Given the description of an element on the screen output the (x, y) to click on. 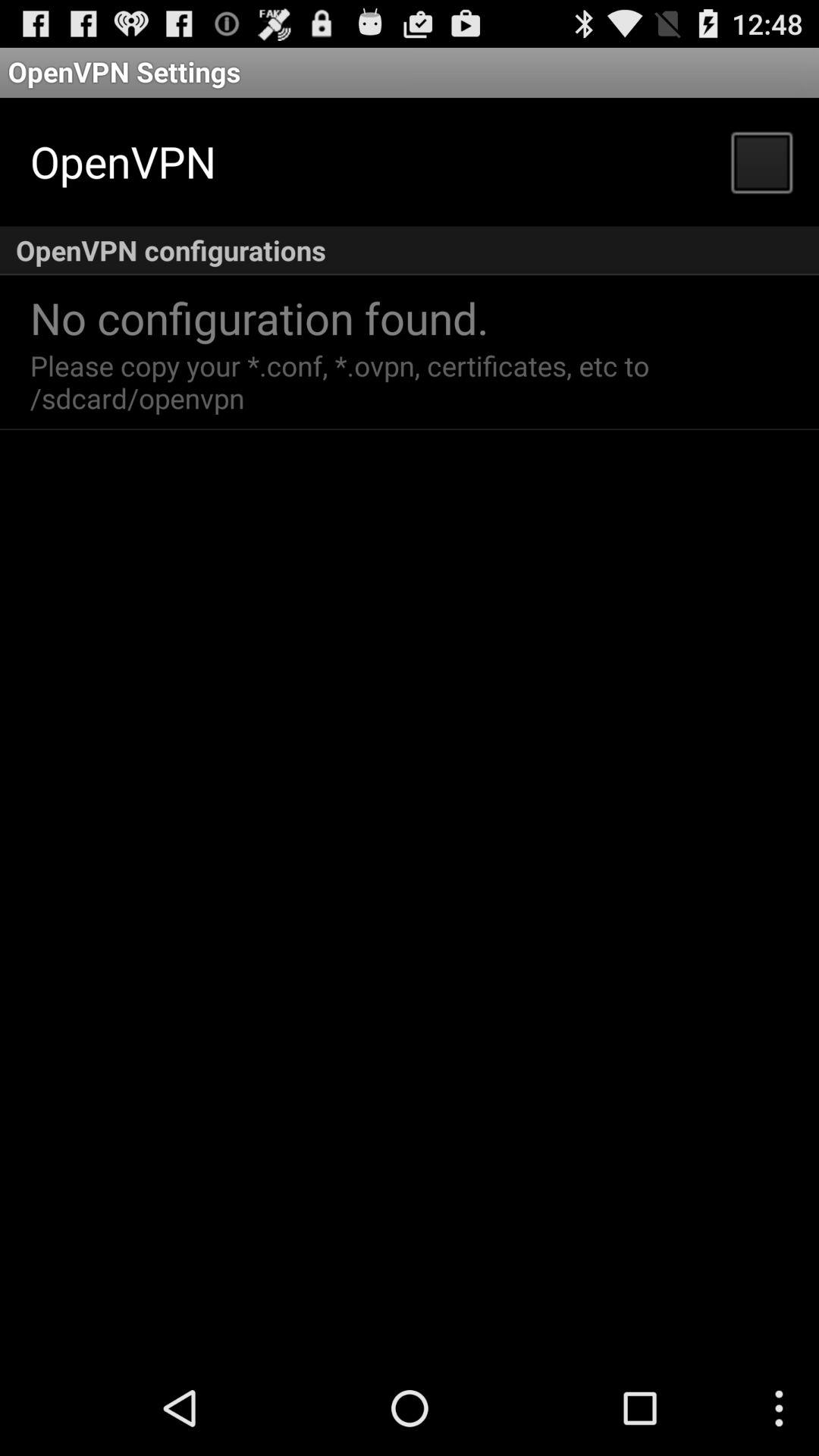
click the app above no configuration found. app (409, 250)
